Given the description of an element on the screen output the (x, y) to click on. 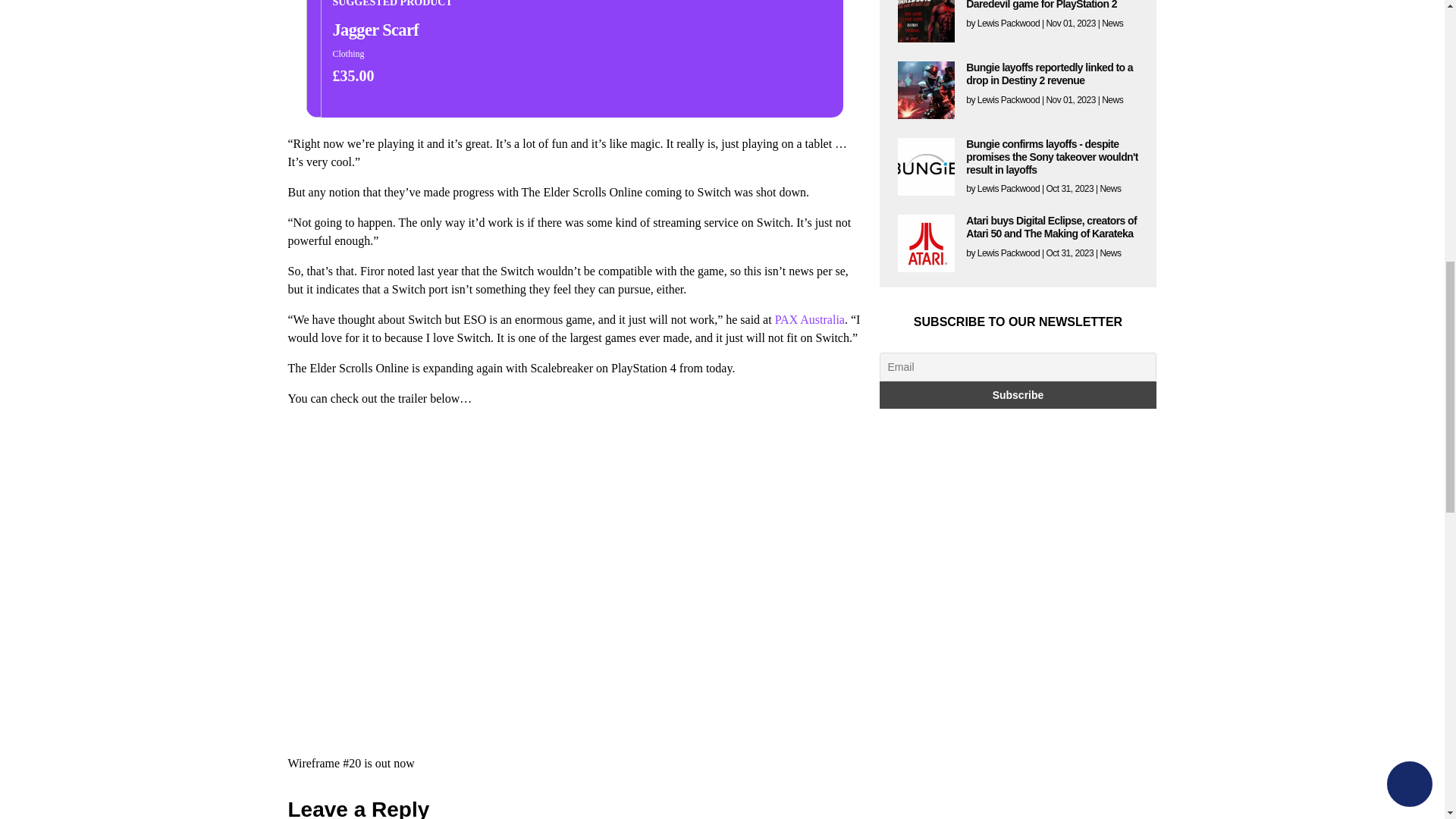
Subscribe (1018, 394)
Jagger Scarf (391, 30)
Clothing (347, 53)
PAX Australia (809, 318)
